Given the description of an element on the screen output the (x, y) to click on. 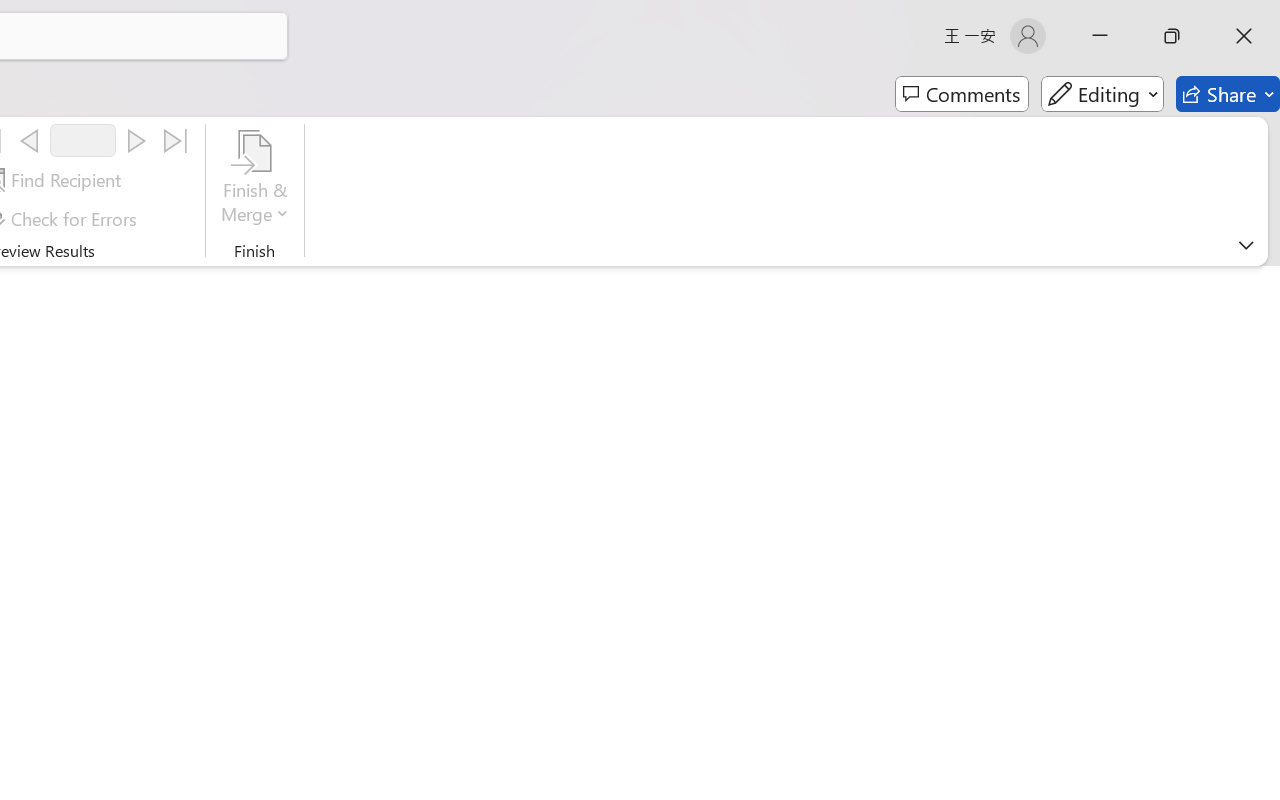
Close (1244, 36)
Restore Down (1172, 36)
Record (83, 140)
Comments (961, 94)
Minimize (1099, 36)
Next (136, 141)
Editing (1101, 94)
Previous (29, 141)
Finish & Merge (255, 179)
Share (1228, 94)
Last (175, 141)
Ribbon Display Options (1246, 245)
